Given the description of an element on the screen output the (x, y) to click on. 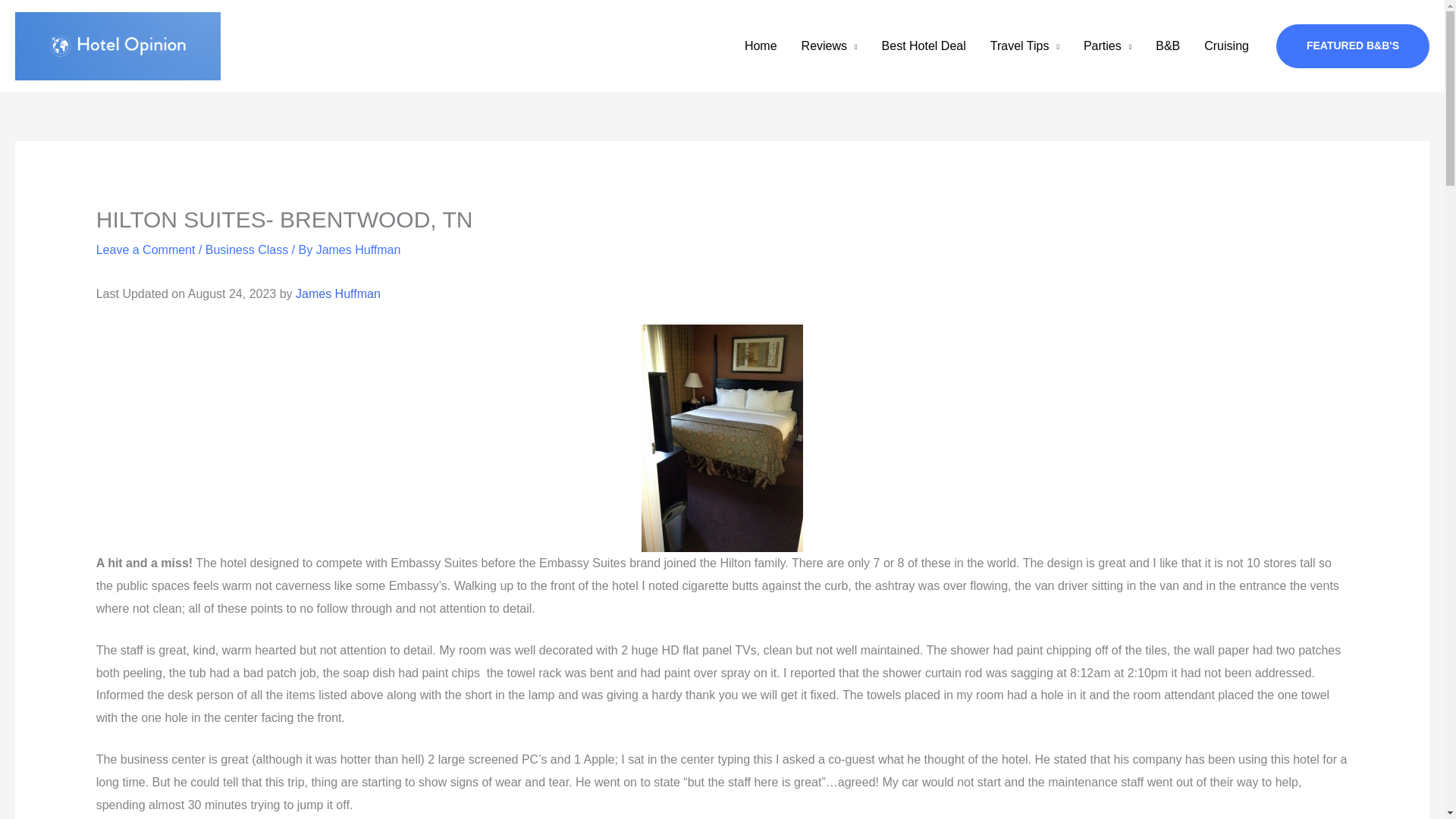
Reviews (829, 45)
Hotel reviews from a pro. (829, 45)
Home (760, 45)
Parties (1106, 45)
View all posts by James Huffman (358, 249)
Travel Tips (1024, 45)
Tips on getting the best hotel deal for you. (923, 45)
Best Hotel Deal (923, 45)
